Given the description of an element on the screen output the (x, y) to click on. 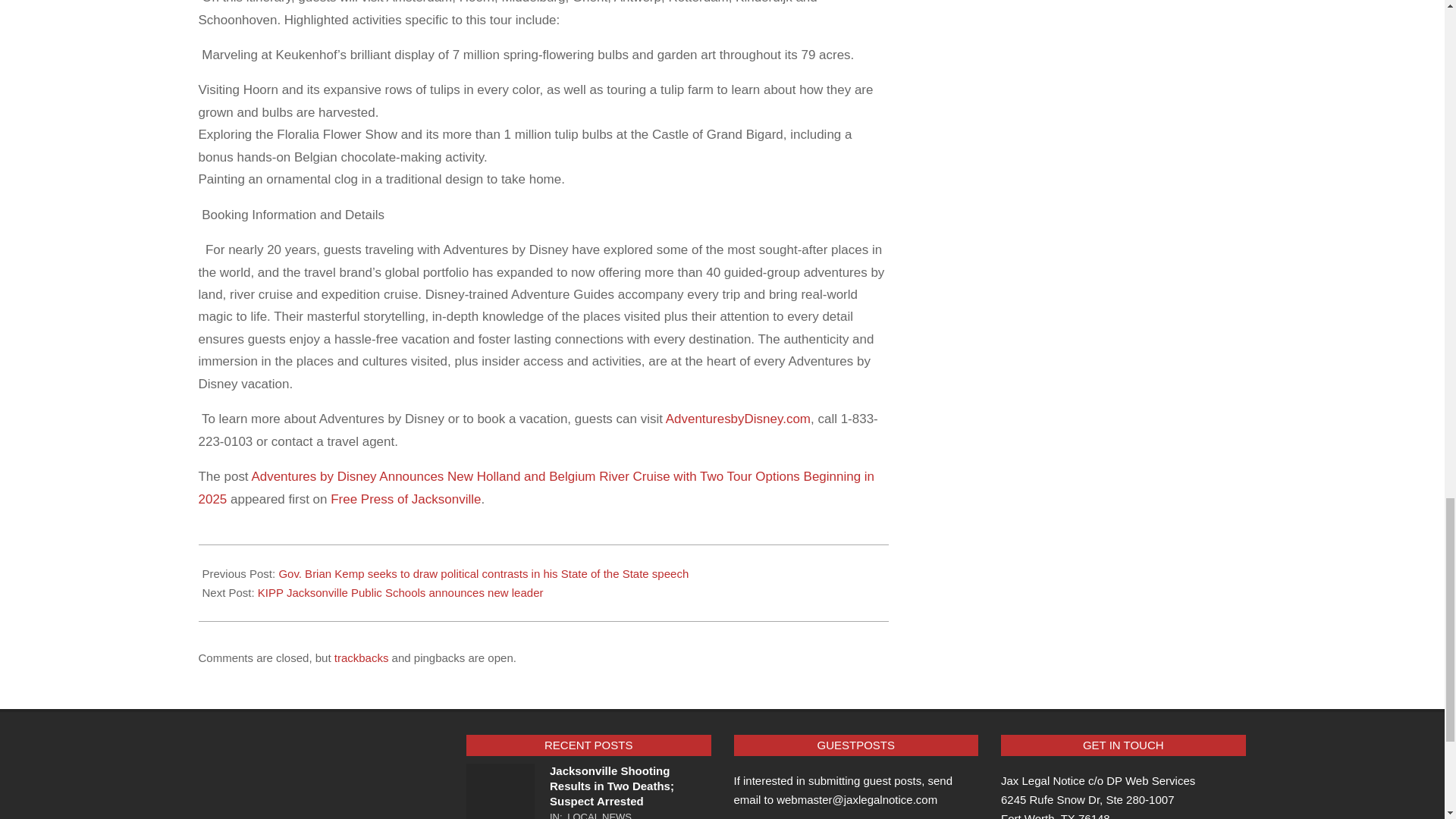
trackbacks (361, 657)
KIPP Jacksonville Public Schools announces new leader (400, 592)
Free Press of Jacksonville (405, 499)
AdventuresbyDisney.com (737, 418)
